Given the description of an element on the screen output the (x, y) to click on. 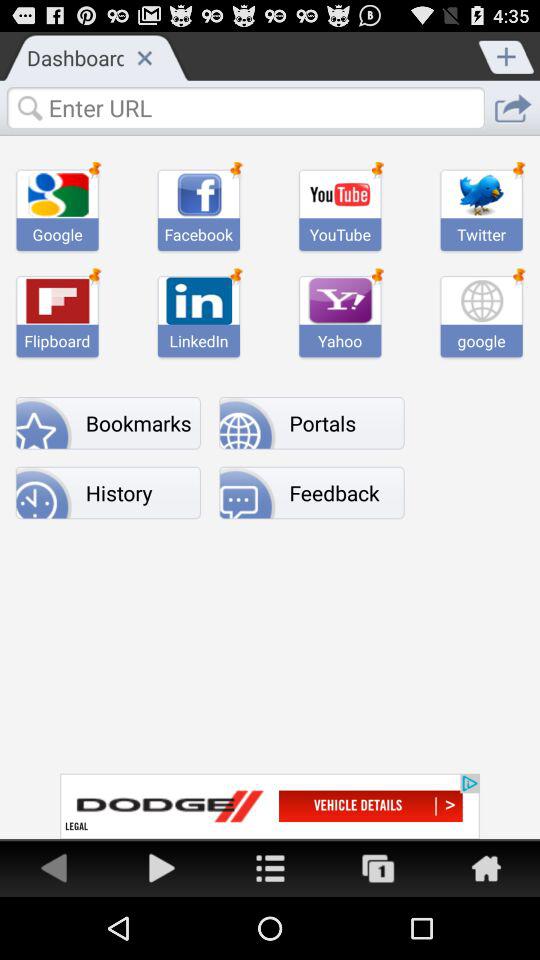
go to previous (54, 867)
